Given the description of an element on the screen output the (x, y) to click on. 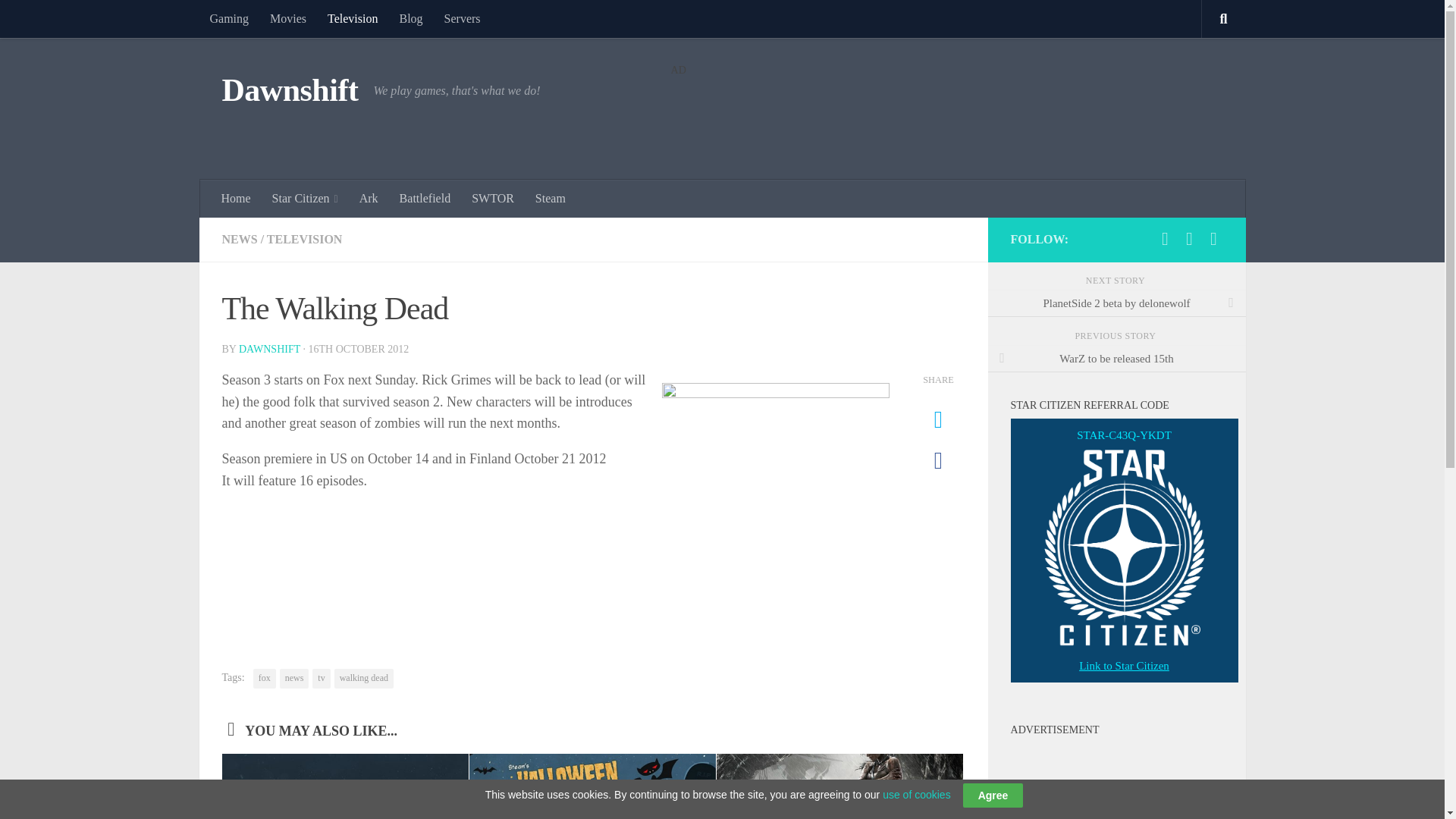
Television (352, 18)
Advertisement (1123, 780)
Ark (368, 198)
NEWS (239, 238)
Follow us on Youtube (1188, 239)
Battlefield (424, 198)
Home (236, 198)
Movies (288, 18)
DAWNSHIFT (268, 348)
Steam (550, 198)
TELEVISION (304, 238)
walking dead (363, 678)
Follow us on Facebook (1164, 239)
Skip to content (59, 20)
Star Citizen (305, 198)
